Given the description of an element on the screen output the (x, y) to click on. 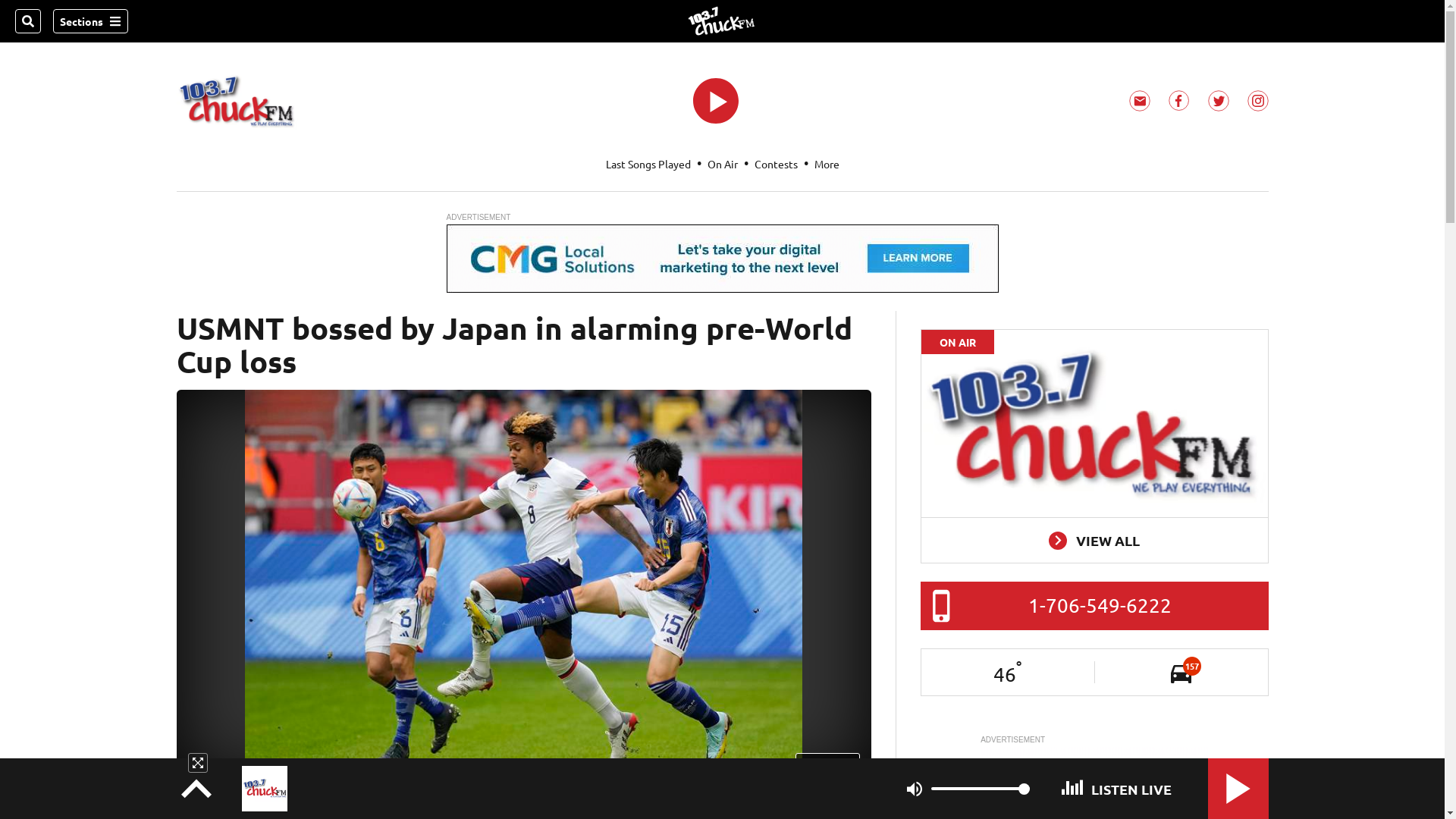
3rd party ad content Element type: hover (721, 258)
103.7 Chuck FM Element type: hover (721, 21)
Sections Element type: text (90, 21)
VIEW ALL Element type: text (1094, 539)
103.7 Chuck FM twitter feed(Opens a new window) Element type: text (1217, 100)
More Element type: text (826, 163)
1-706-549-6222 Element type: text (1099, 605)
103.7 Chuck FM facebook feed(Opens a new window) Element type: text (1178, 100)
Contests Element type: text (775, 163)
Subscribe to 103.7 Chuck FM newsletter(Opens a new window) Element type: text (1138, 100)
103.7 Chuck FM instagram feed(Opens a new window) Element type: text (1256, 100)
157 Element type: text (1180, 671)
+Caption Element type: text (827, 762)
Last Songs Played Element type: text (647, 163)
On Air Element type: text (721, 163)
